Given the description of an element on the screen output the (x, y) to click on. 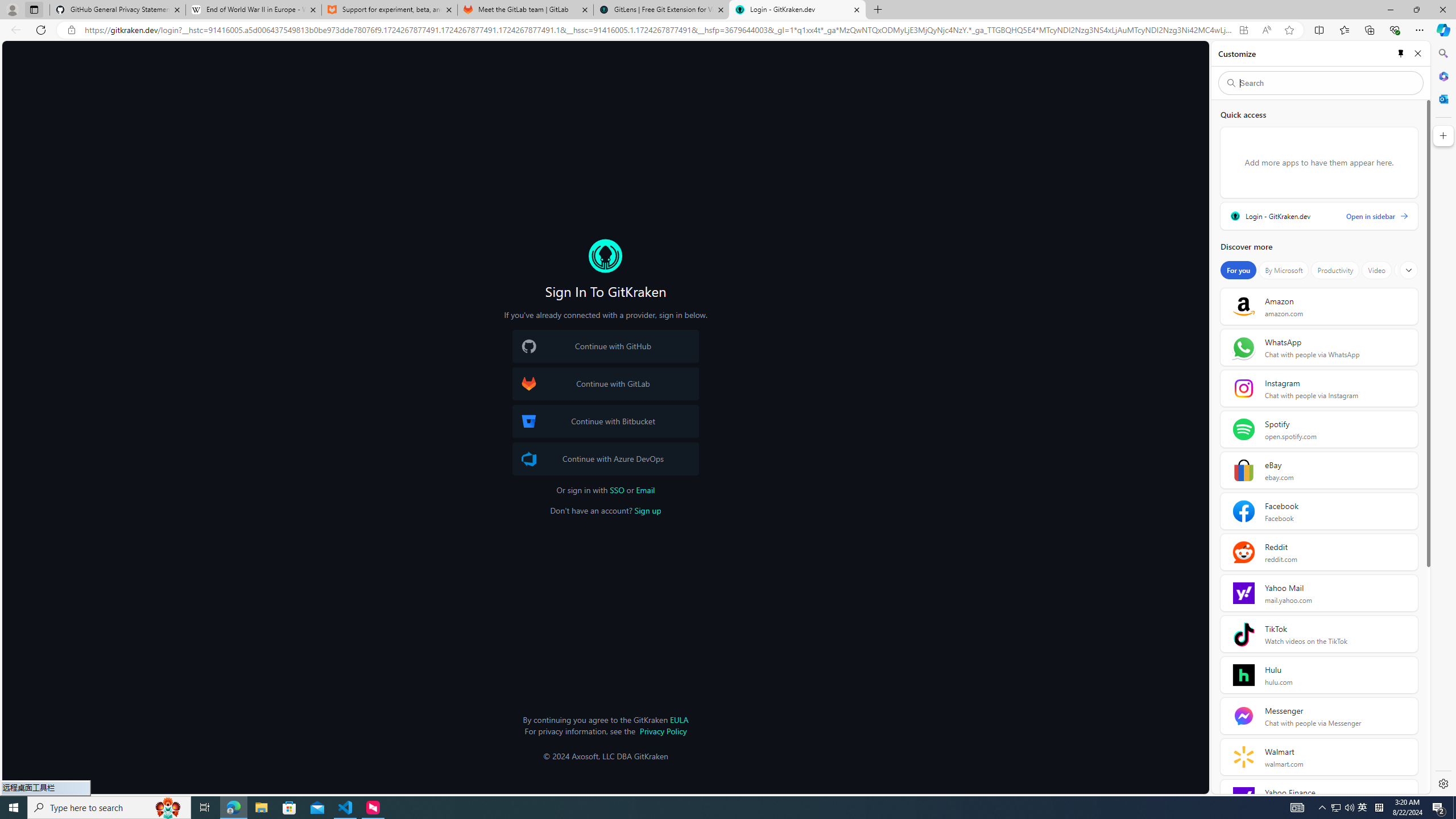
Sign up (647, 510)
Meet the GitLab team | GitLab (525, 9)
